Given the description of an element on the screen output the (x, y) to click on. 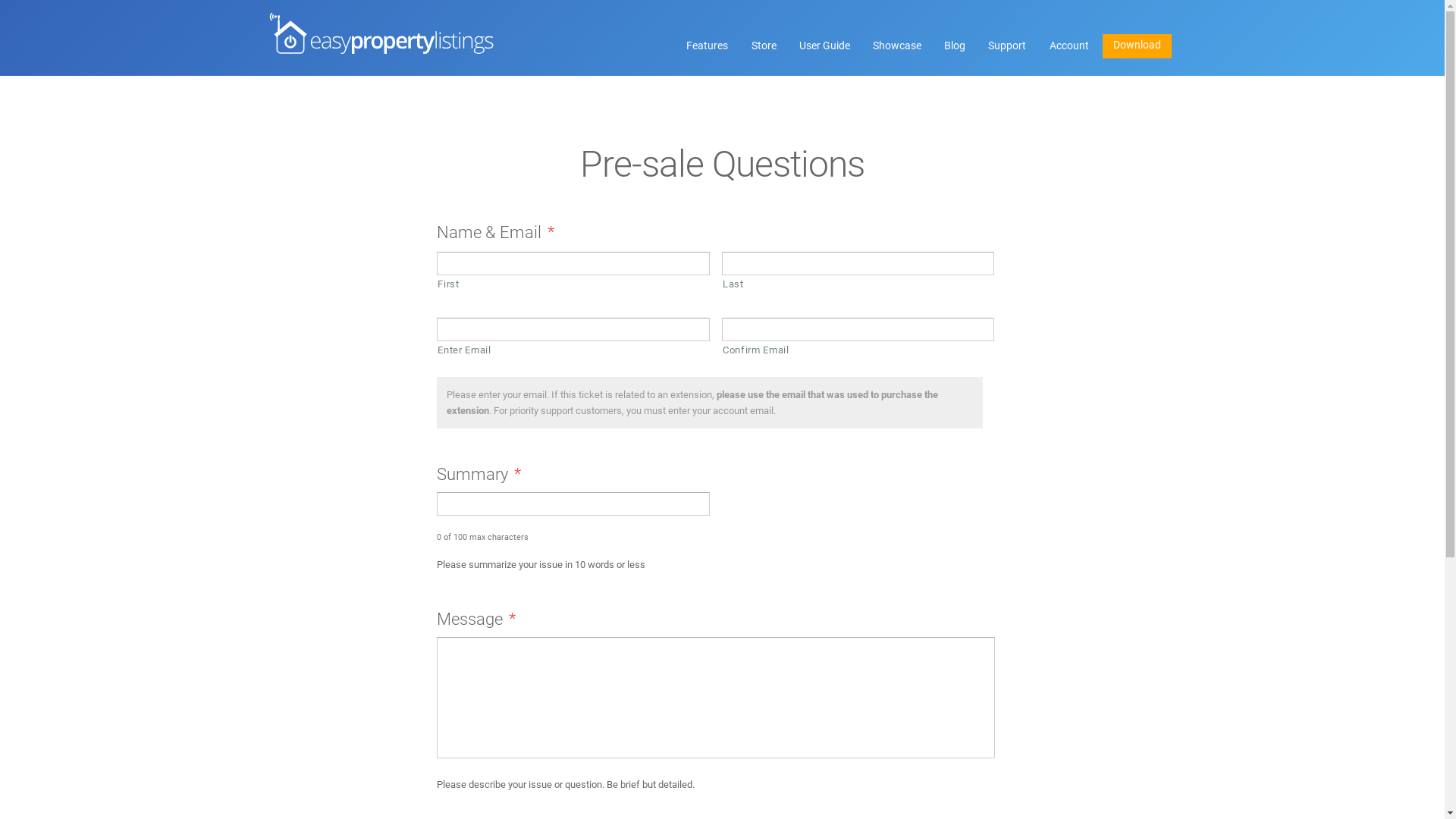
Store Element type: text (763, 46)
Features Element type: text (707, 46)
Blog Element type: text (954, 46)
Support Element type: text (1007, 46)
Showcase Element type: text (896, 46)
Download Element type: text (1136, 46)
Easy Property Listings Element type: hover (380, 33)
Account Element type: text (1068, 46)
User Guide Element type: text (824, 46)
